Given the description of an element on the screen output the (x, y) to click on. 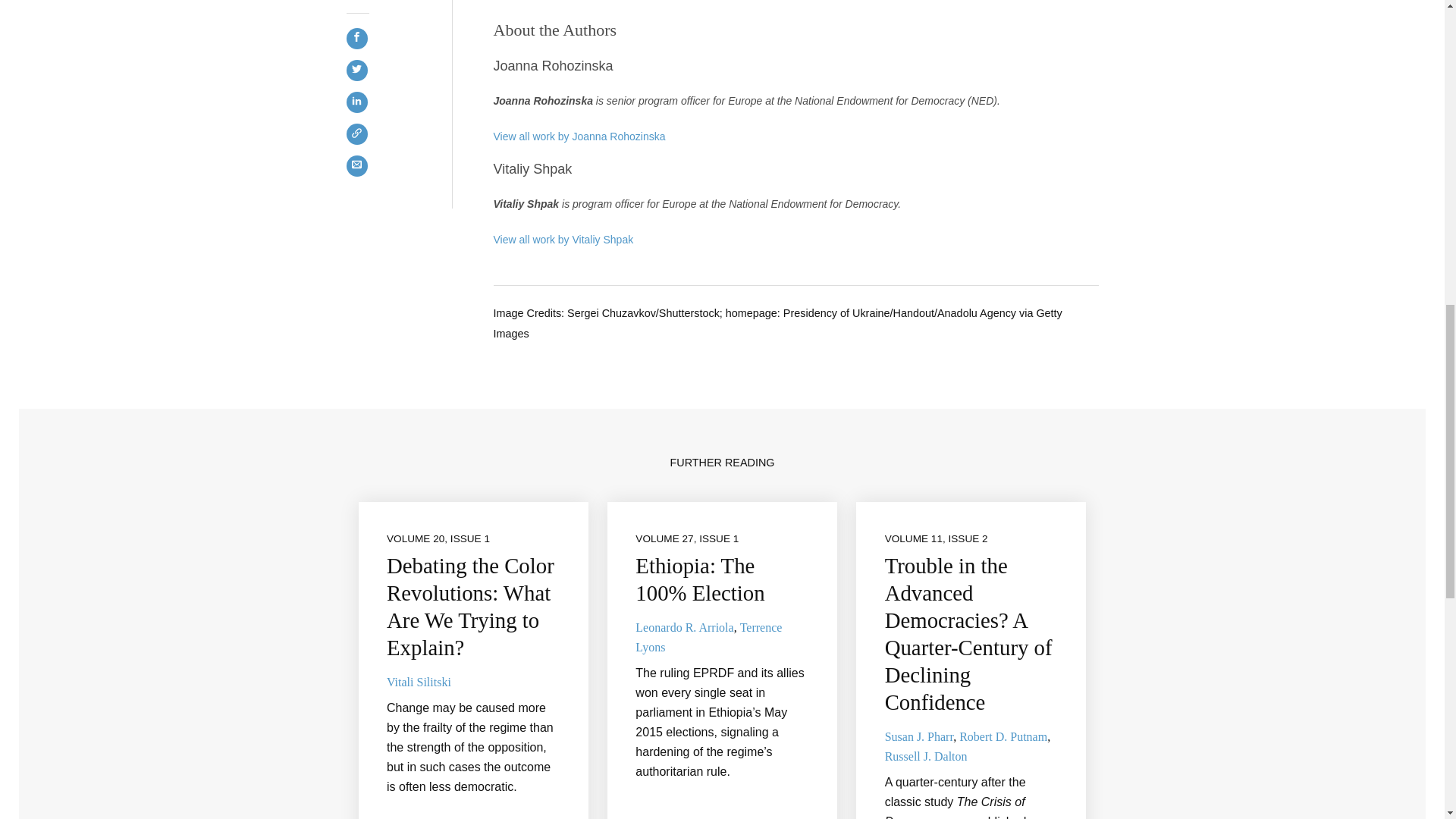
View all work by Joanna Rohozinska (579, 136)
